Given the description of an element on the screen output the (x, y) to click on. 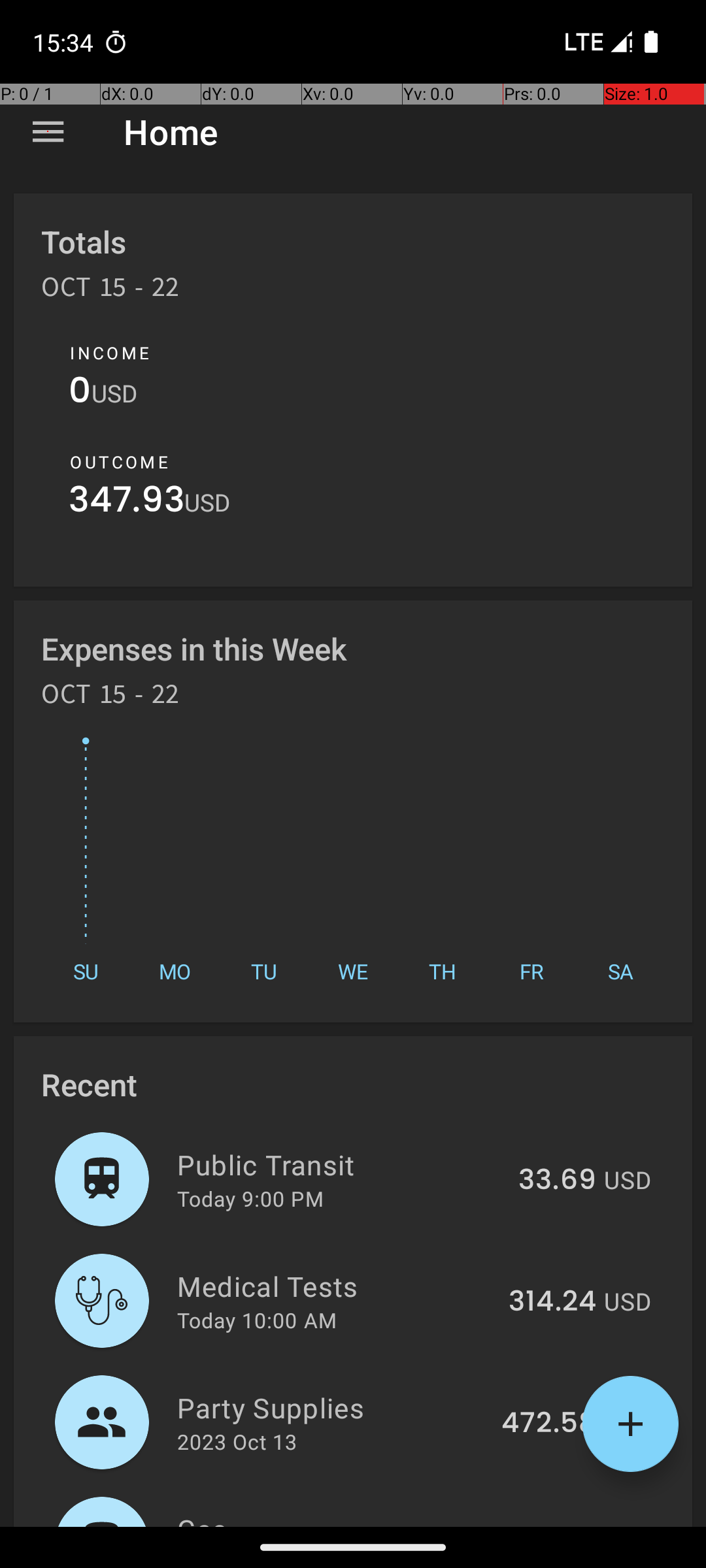
347.93 Element type: android.widget.TextView (126, 502)
Public Transit Element type: android.widget.TextView (340, 1164)
33.69 Element type: android.widget.TextView (556, 1180)
Medical Tests Element type: android.widget.TextView (335, 1285)
Today 10:00 AM Element type: android.widget.TextView (256, 1320)
314.24 Element type: android.widget.TextView (551, 1301)
472.58 Element type: android.widget.TextView (548, 1423)
324.86 Element type: android.widget.TextView (548, 1524)
